Given the description of an element on the screen output the (x, y) to click on. 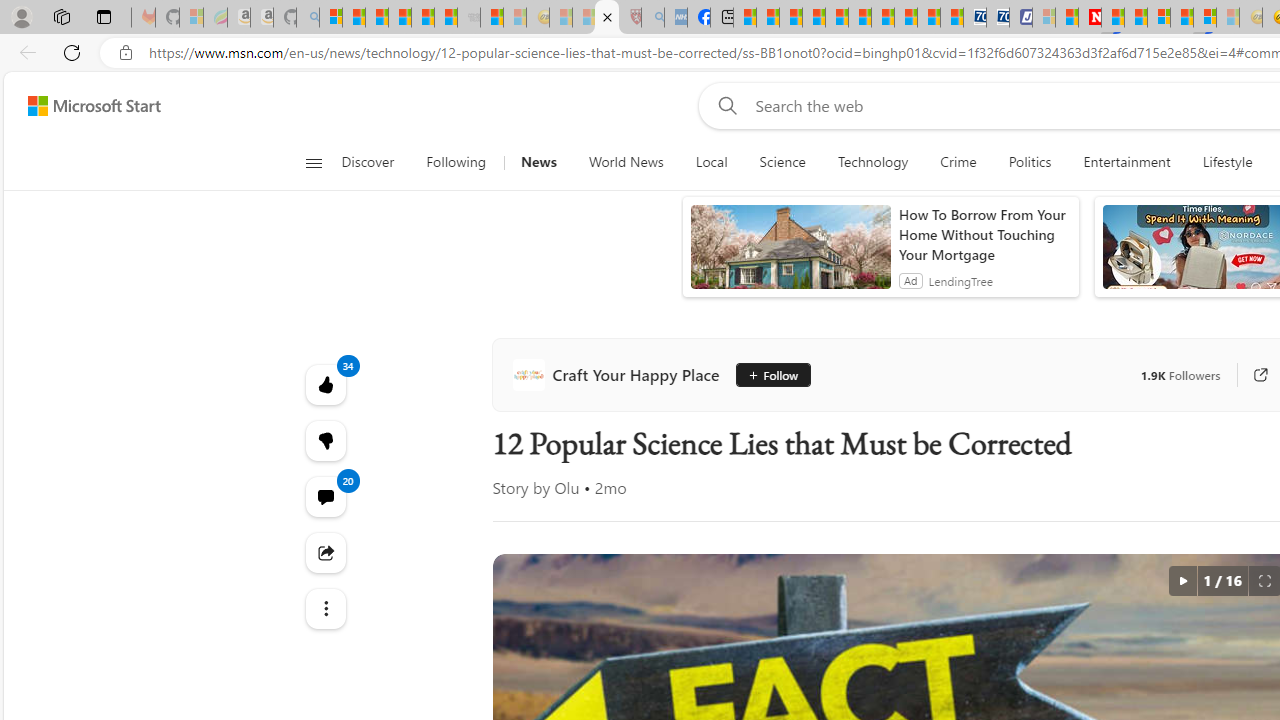
Latest Politics News & Archive | Newsweek.com (1089, 17)
Combat Siege - Sleeping (468, 17)
Craft Your Happy Place (620, 374)
